Given the description of an element on the screen output the (x, y) to click on. 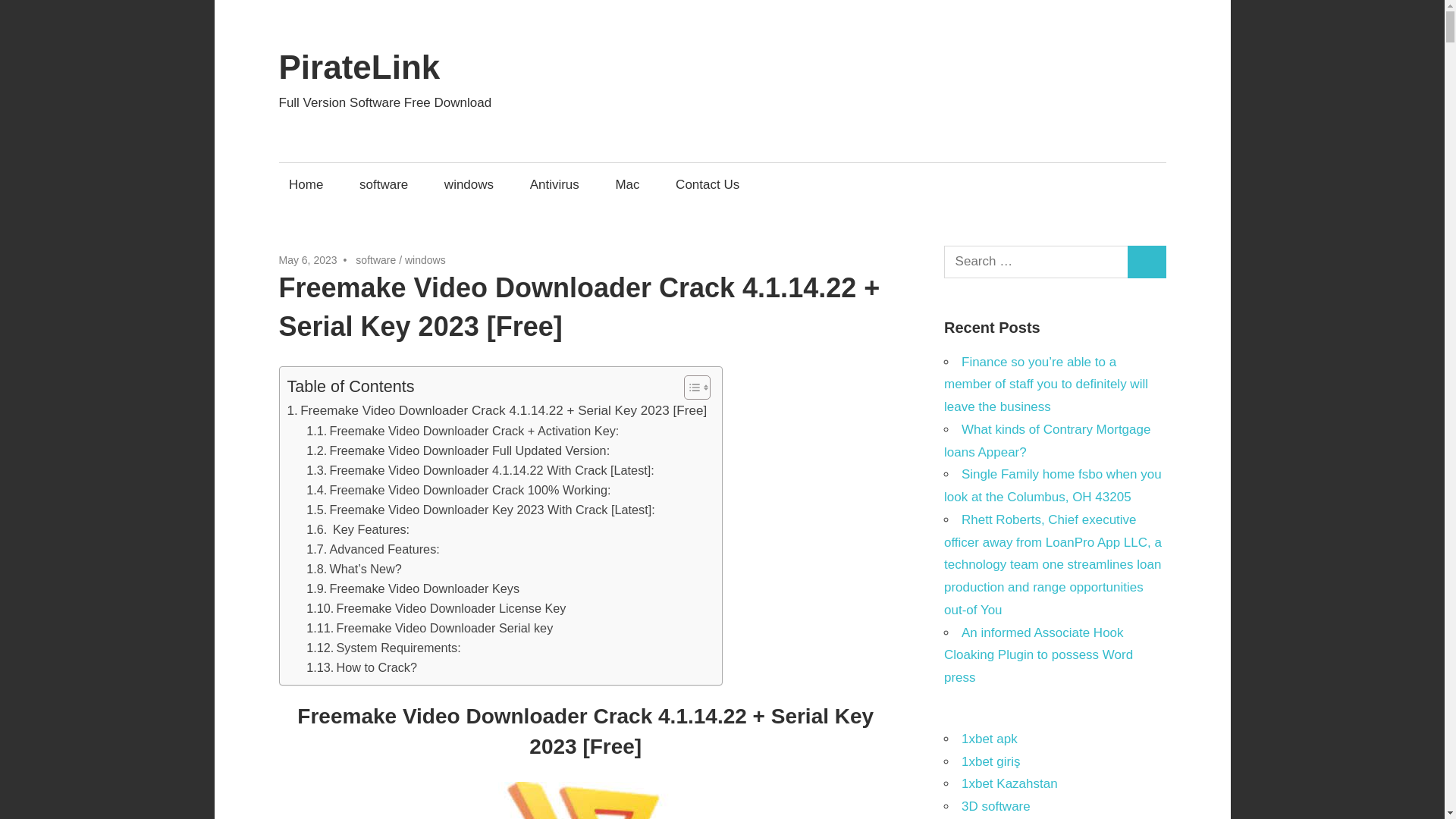
 Key Features: (357, 528)
Home (306, 184)
Freemake Video Downloader License Key (435, 608)
Freemake Video Downloader Serial key (429, 628)
How to Crack? (360, 667)
software (383, 184)
Freemake Video Downloader License Key (435, 608)
Freemake Video Downloader Full Updated Version: (457, 450)
Freemake Video Downloader Serial key (429, 628)
Freemake Video Downloader Keys (412, 588)
Freemake Video Downloader Keys (412, 588)
windows (468, 184)
Mac (627, 184)
May 6, 2023 (308, 259)
PirateLink (360, 66)
